Given the description of an element on the screen output the (x, y) to click on. 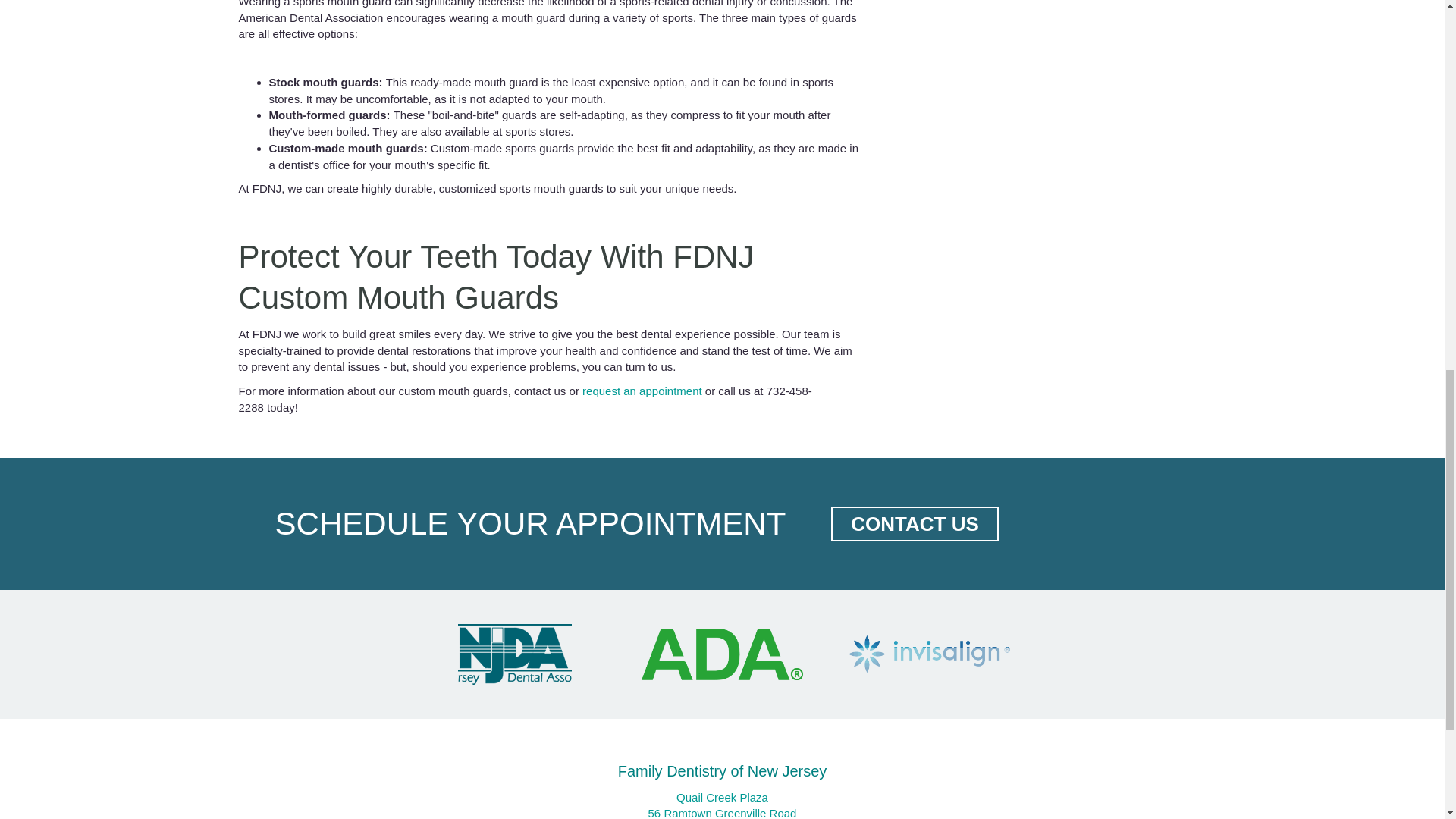
Click Here (914, 523)
ada-american-dental-association-logo (722, 654)
njda (515, 654)
